Given the description of an element on the screen output the (x, y) to click on. 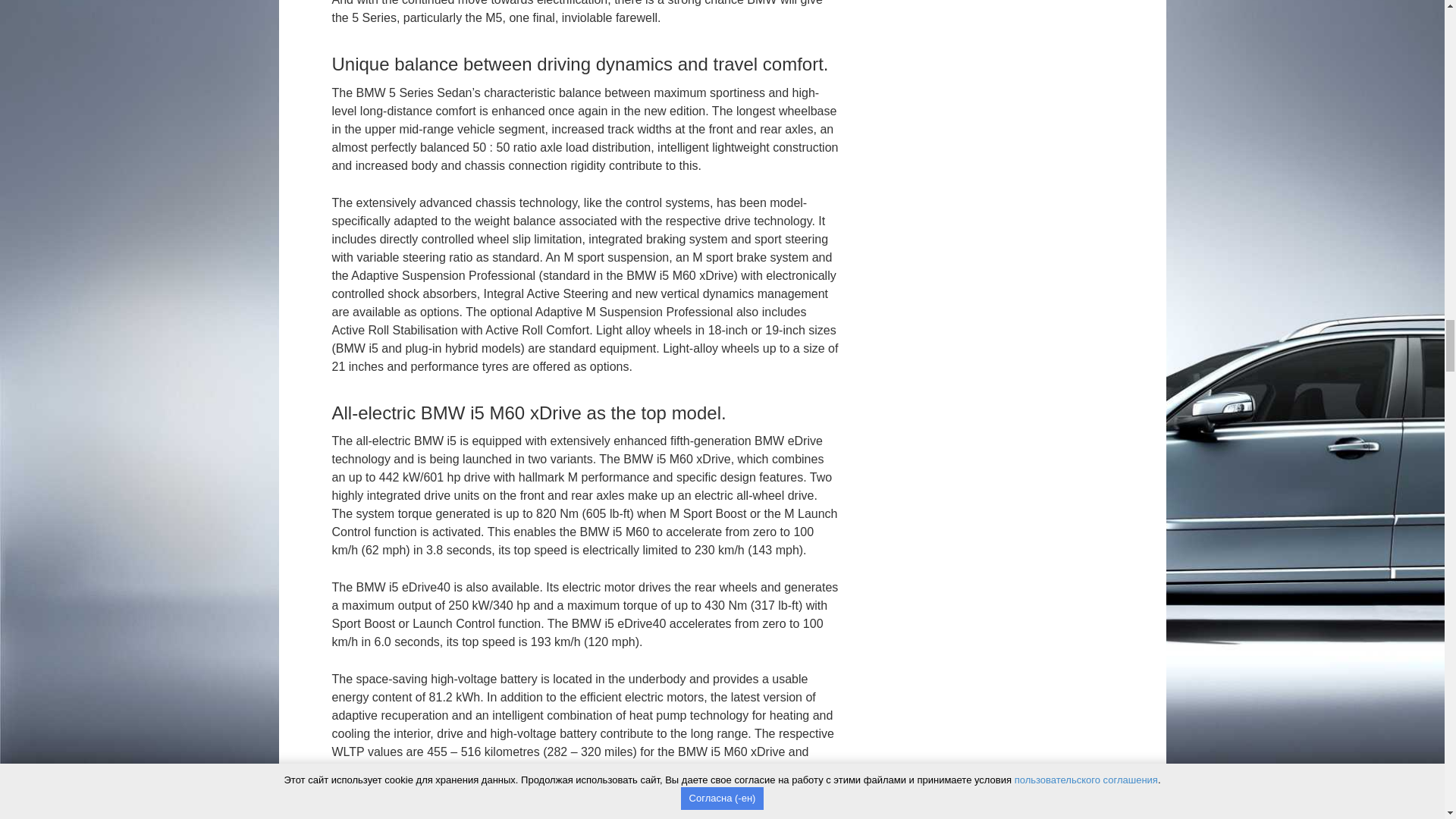
the new MAX RANGE (770, 769)
